Given the description of an element on the screen output the (x, y) to click on. 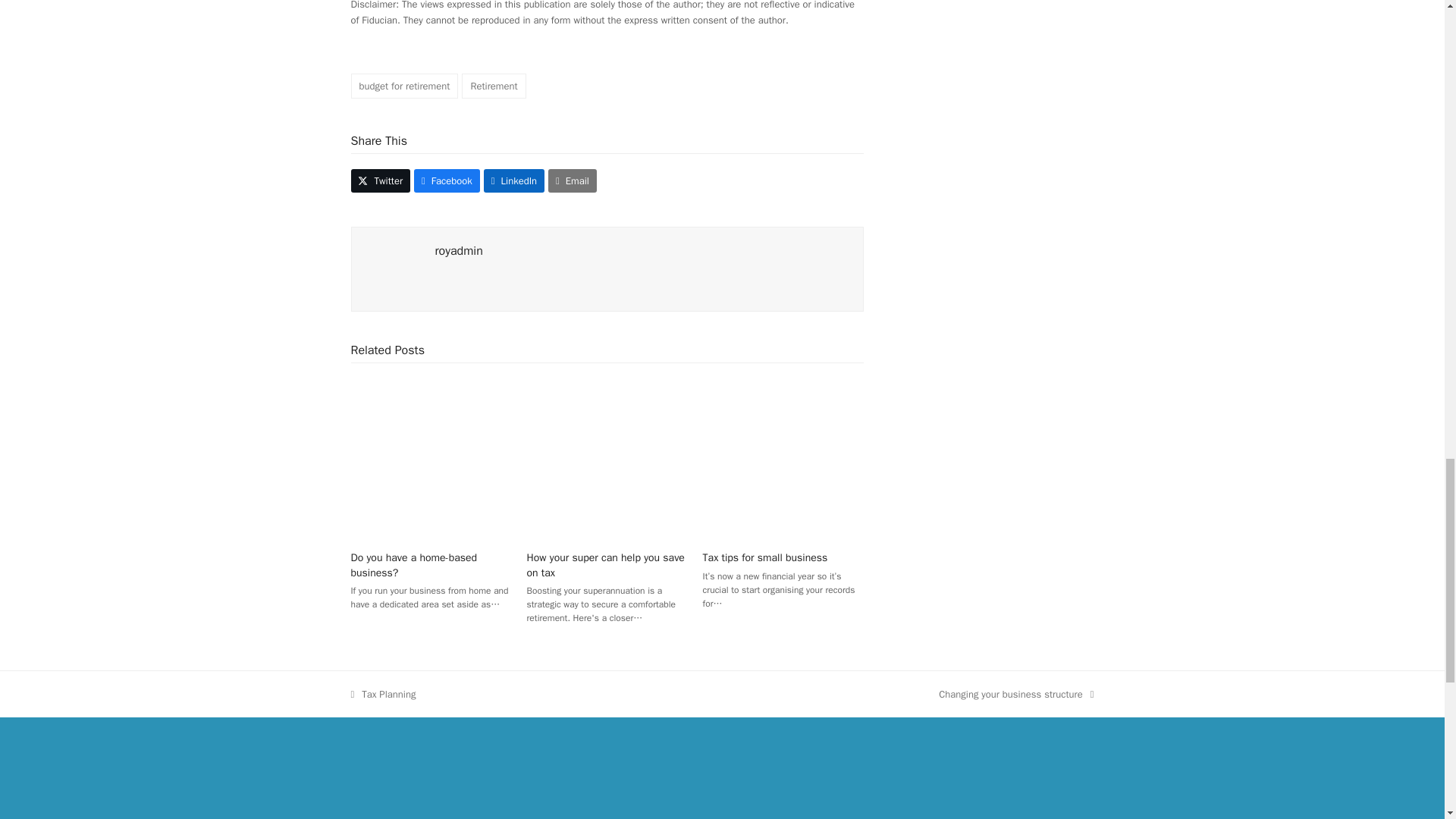
How your super can help you save on tax (607, 458)
Twitter (380, 180)
Retirement (493, 85)
budget for retirement (404, 85)
Do you have a home-based business? (430, 458)
LinkedIn (513, 180)
Visit Author Page (459, 250)
Visit Author Page (393, 268)
Facebook (446, 180)
Tax tips for small business (783, 458)
